Given the description of an element on the screen output the (x, y) to click on. 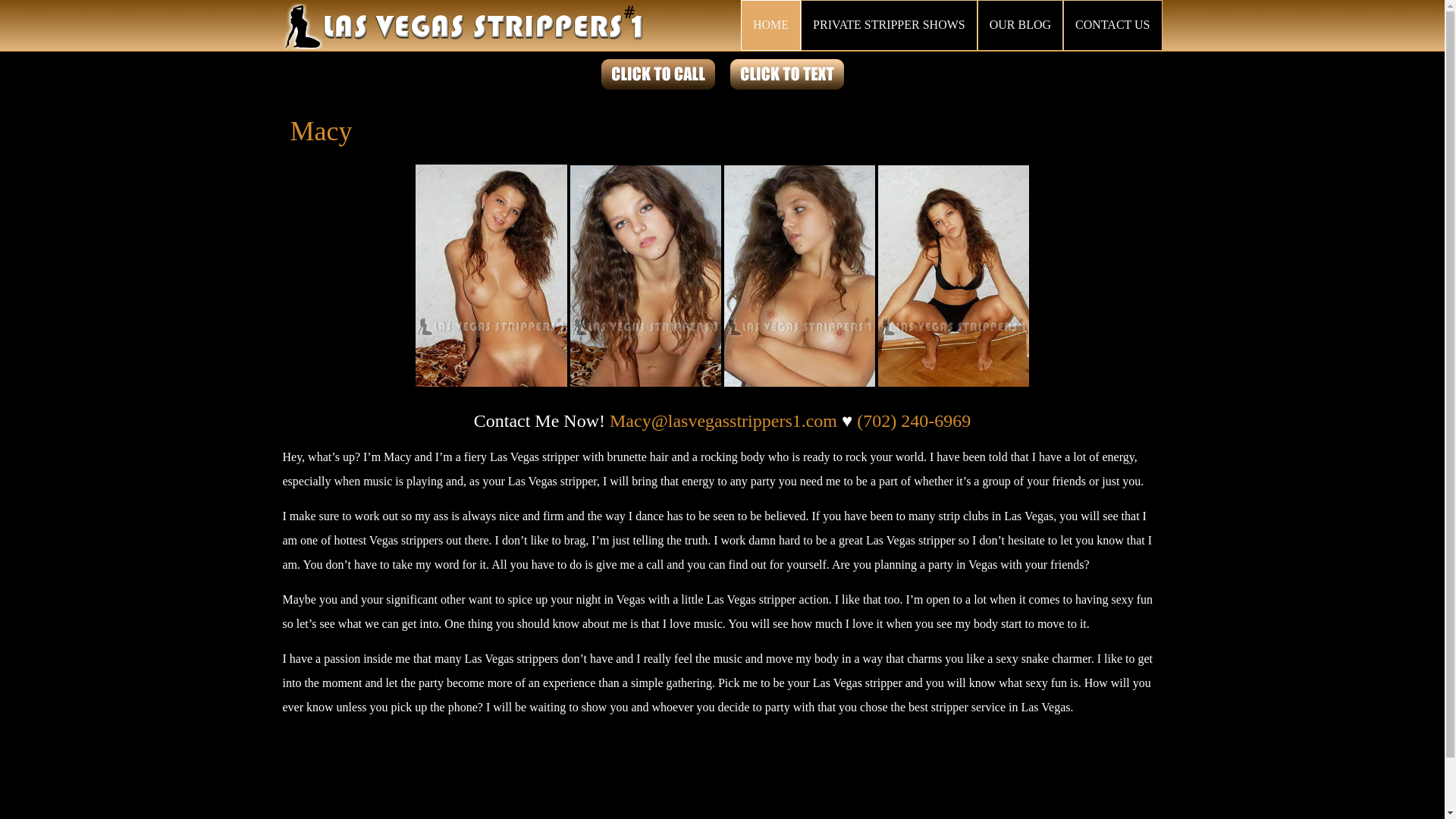
HOME (770, 25)
OUR BLOG (1019, 25)
Macy (320, 131)
PRIVATE STRIPPER SHOWS (888, 25)
CONTACT US (1111, 25)
